Given the description of an element on the screen output the (x, y) to click on. 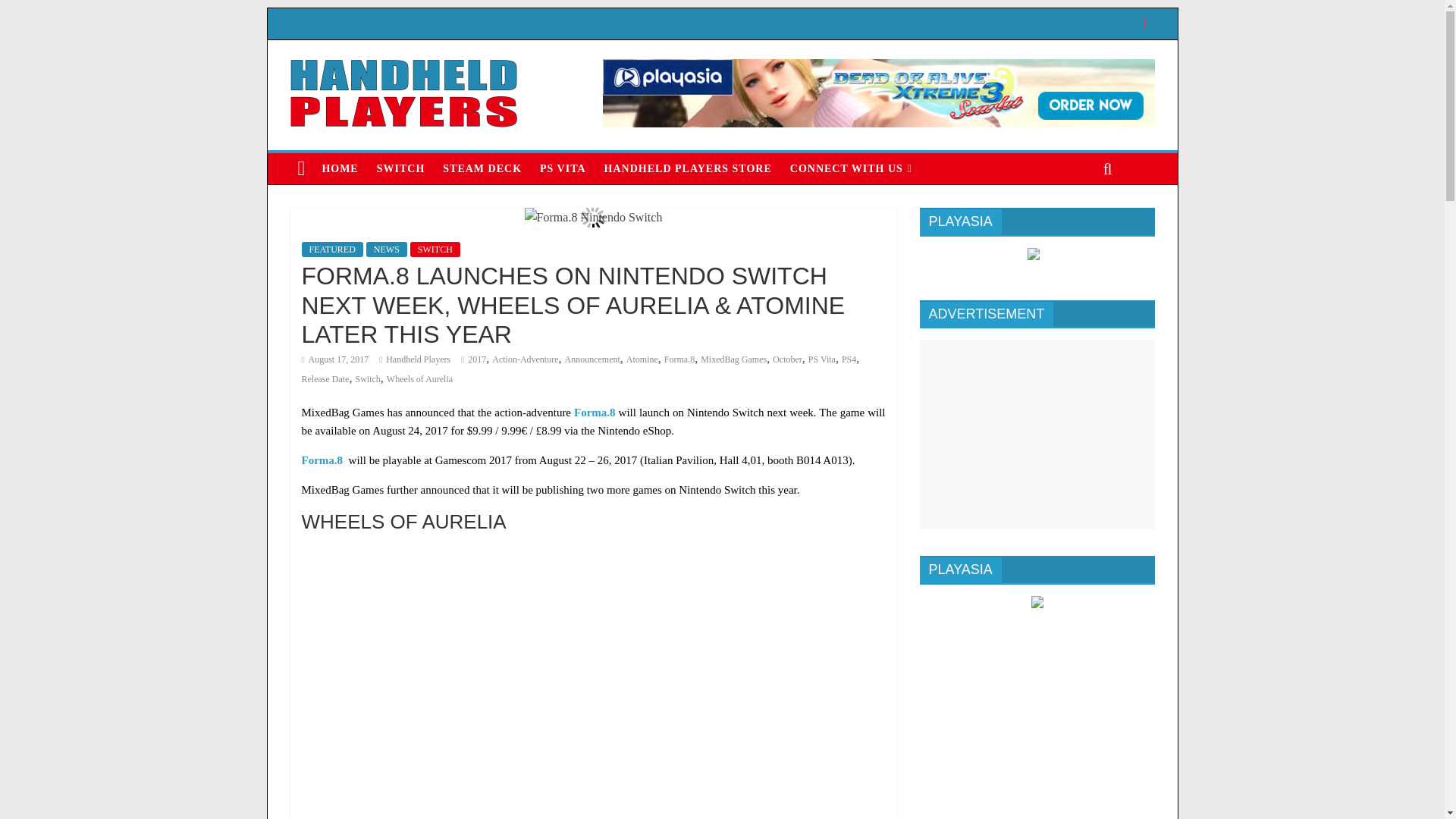
Handheld Players (417, 358)
Advertisement (1036, 434)
SWITCH (435, 249)
CONNECT WITH US (850, 168)
Atomine (642, 358)
FEATURED (331, 249)
STEAM DECK (482, 168)
HOME (339, 168)
August 17, 2017 (335, 358)
SWITCH (400, 168)
19:15 (335, 358)
Handheld Players (417, 358)
HANDHELD PLAYERS STORE (687, 168)
NEWS (386, 249)
PS VITA (563, 168)
